Given the description of an element on the screen output the (x, y) to click on. 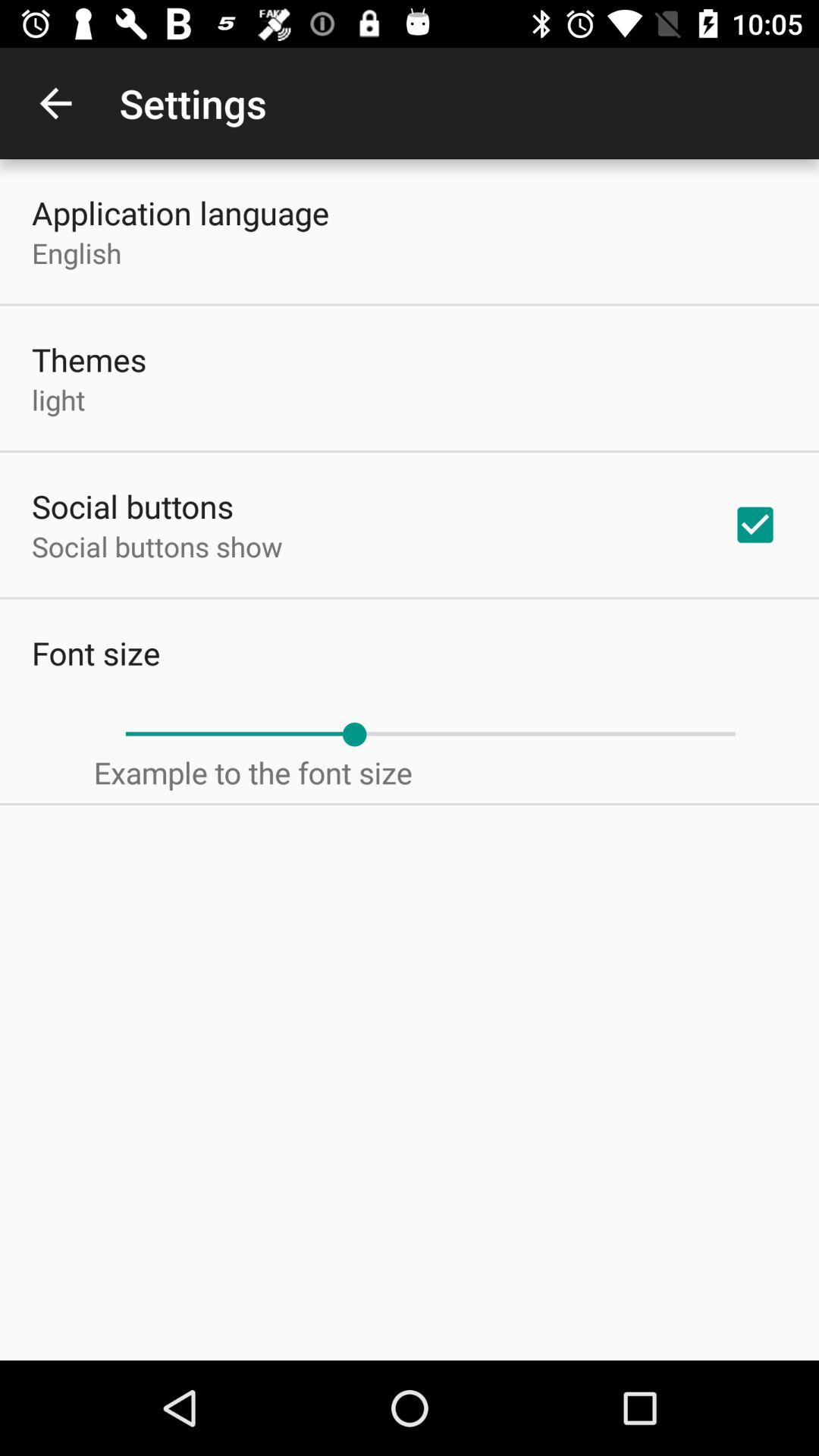
tap item next to settings item (55, 103)
